Given the description of an element on the screen output the (x, y) to click on. 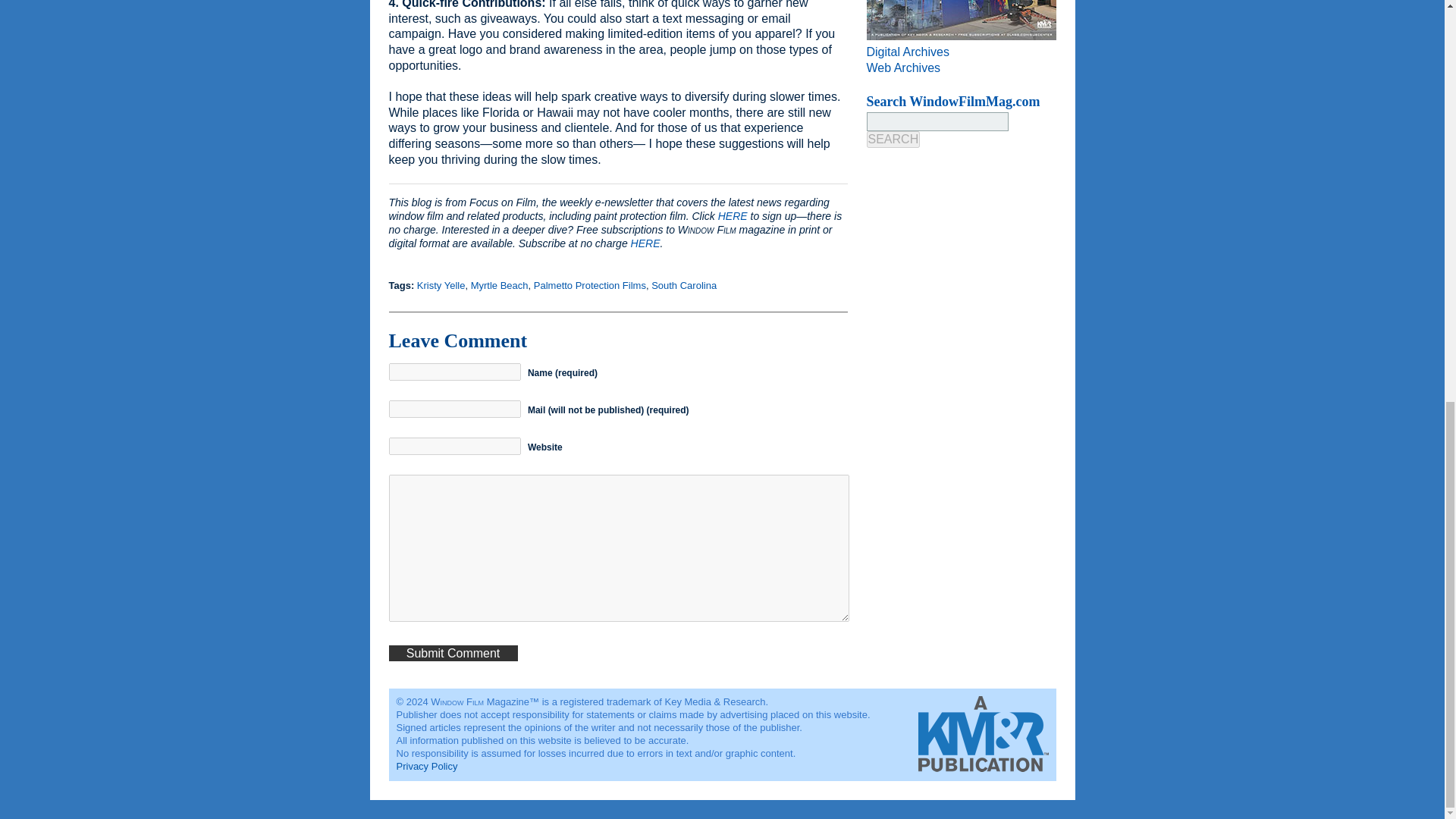
Submit Comment (452, 652)
HERE (732, 215)
South Carolina (683, 285)
Kristy Yelle (440, 285)
Submit Comment (452, 652)
HERE (645, 243)
Myrtle Beach (499, 285)
Palmetto Protection Films (590, 285)
SEARCH (893, 139)
Click Here to read this issue! (960, 20)
